Given the description of an element on the screen output the (x, y) to click on. 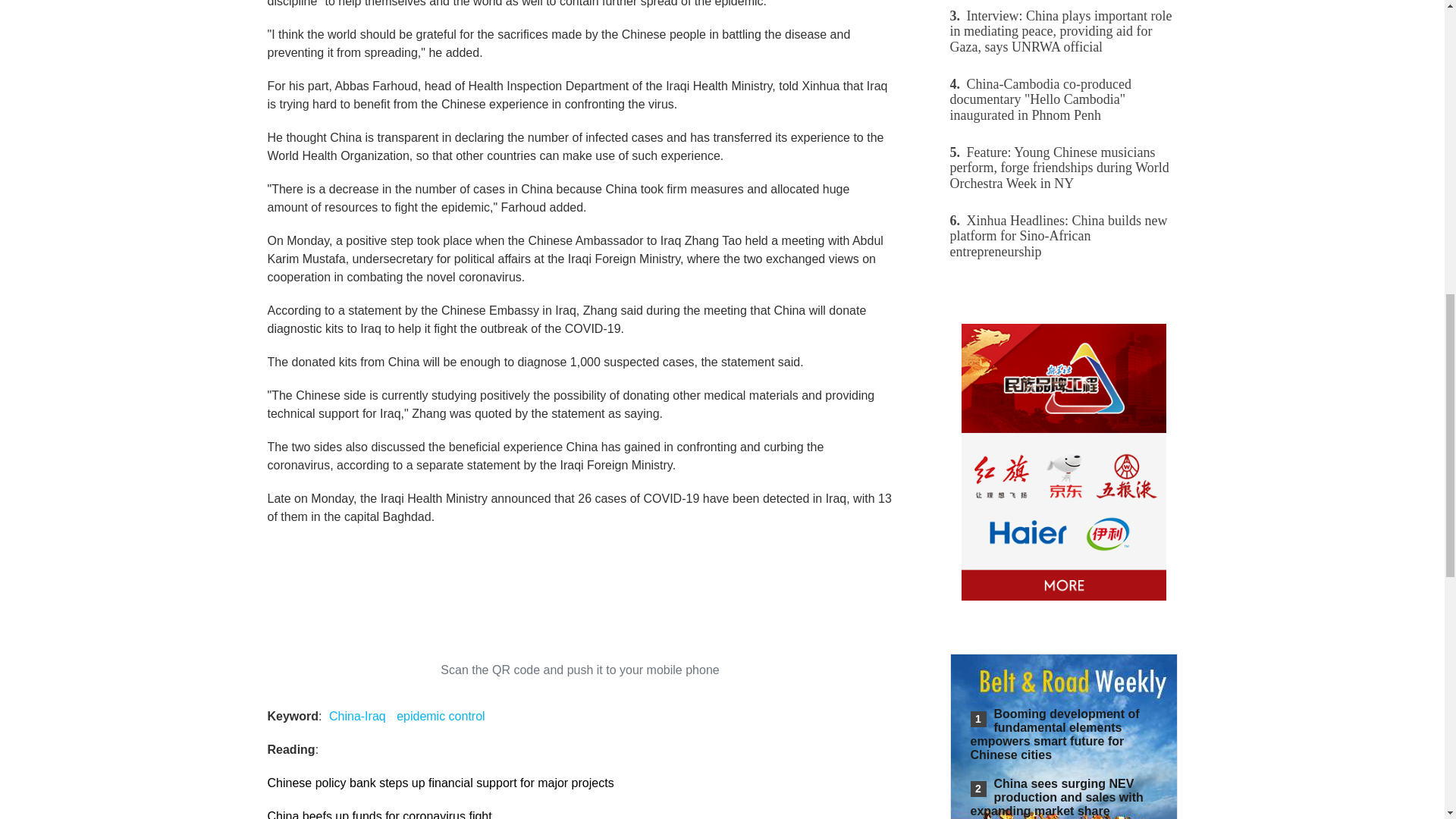
China beefs up funds for coronavirus fight  (379, 814)
